Given the description of an element on the screen output the (x, y) to click on. 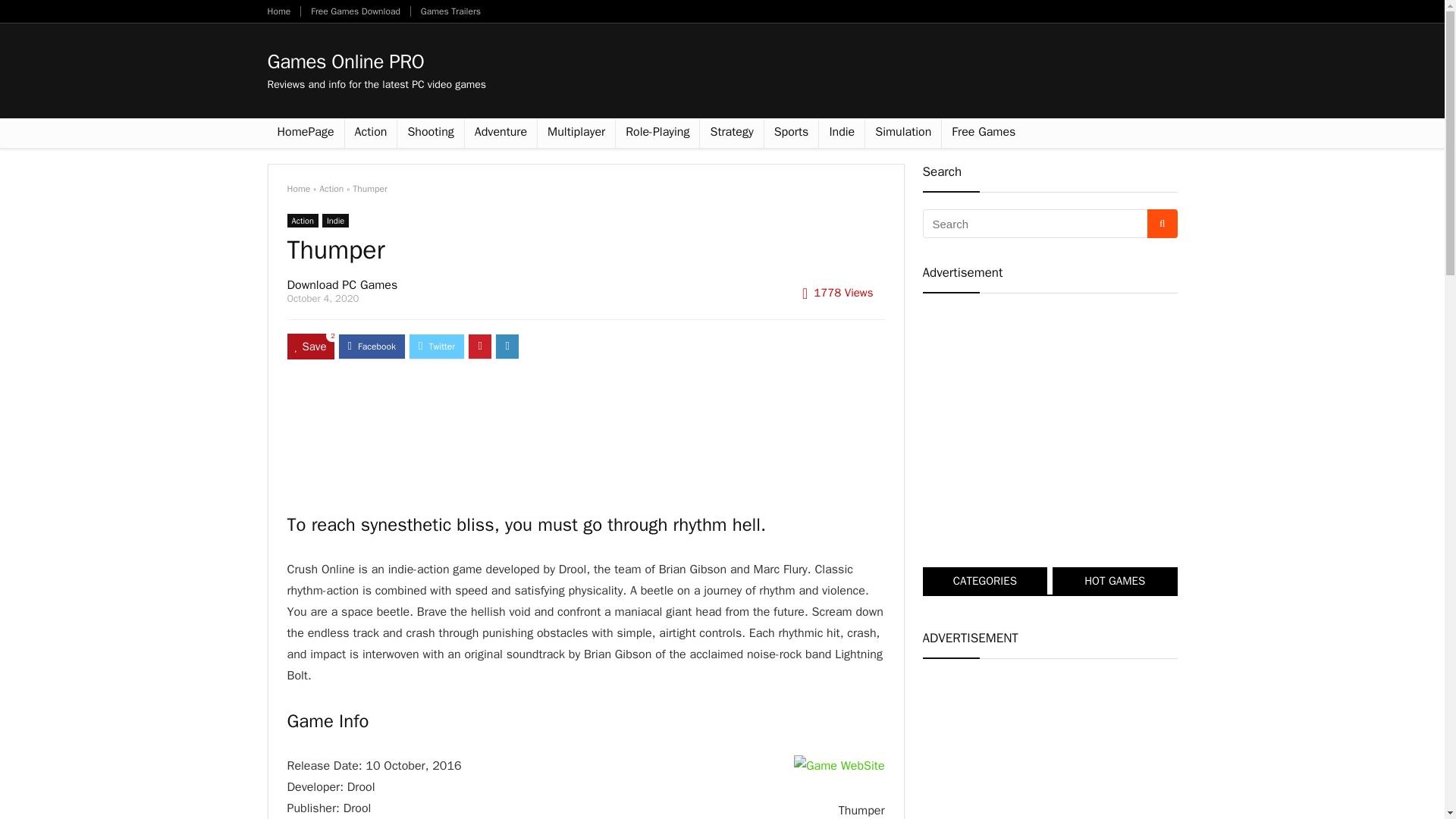
Adventure (500, 133)
Action (330, 188)
Home (298, 188)
Action (301, 220)
Games Trailers (450, 10)
Home (277, 10)
Role-Playing (656, 133)
Shooting (430, 133)
Simulation (902, 133)
View all posts in Action (301, 220)
